Given the description of an element on the screen output the (x, y) to click on. 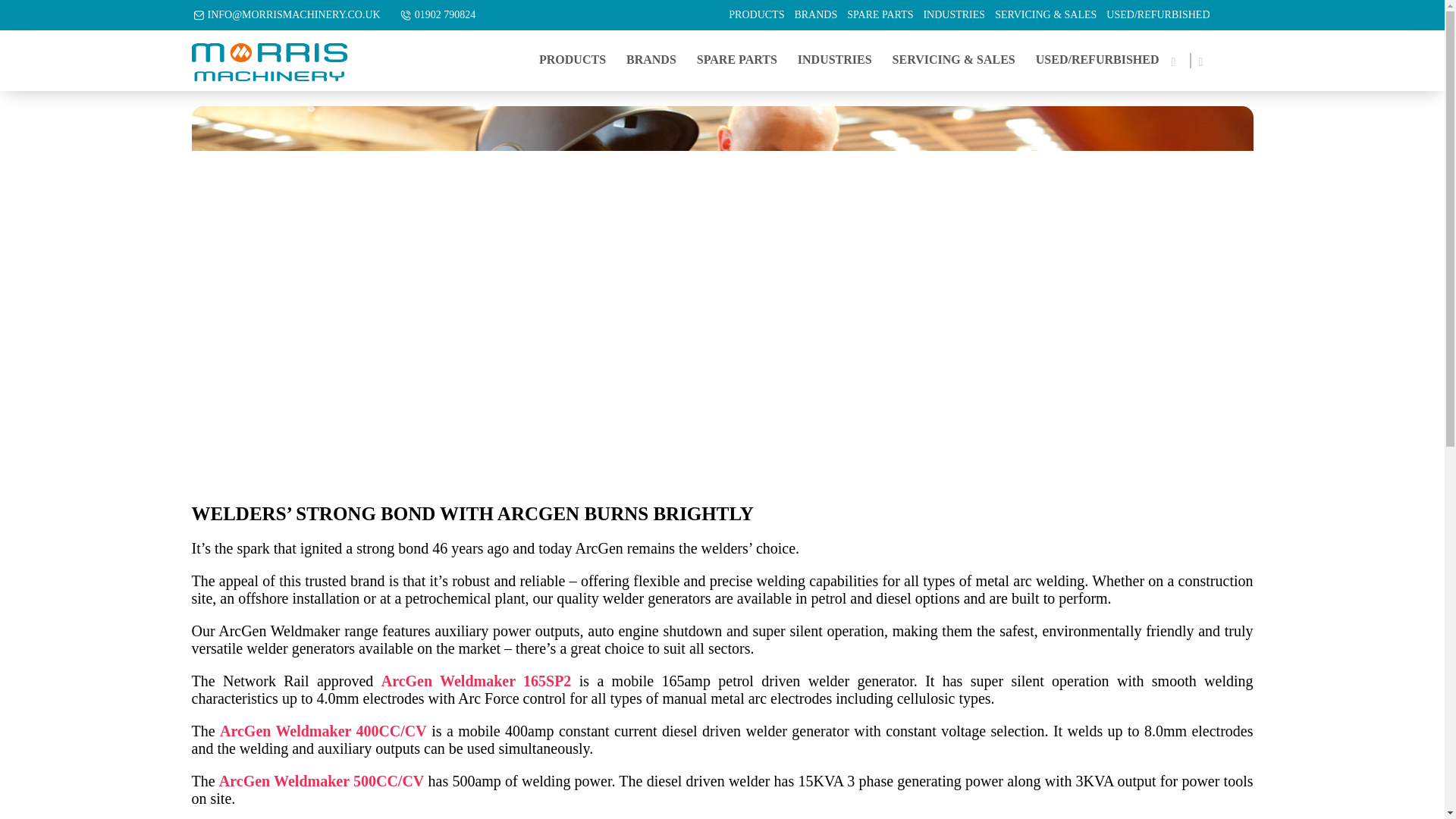
INDUSTRIES (954, 14)
01902 790824 (445, 14)
SPARE PARTS (879, 14)
BRANDS (815, 14)
PRODUCTS (571, 60)
PRODUCTS (756, 14)
